Given the description of an element on the screen output the (x, y) to click on. 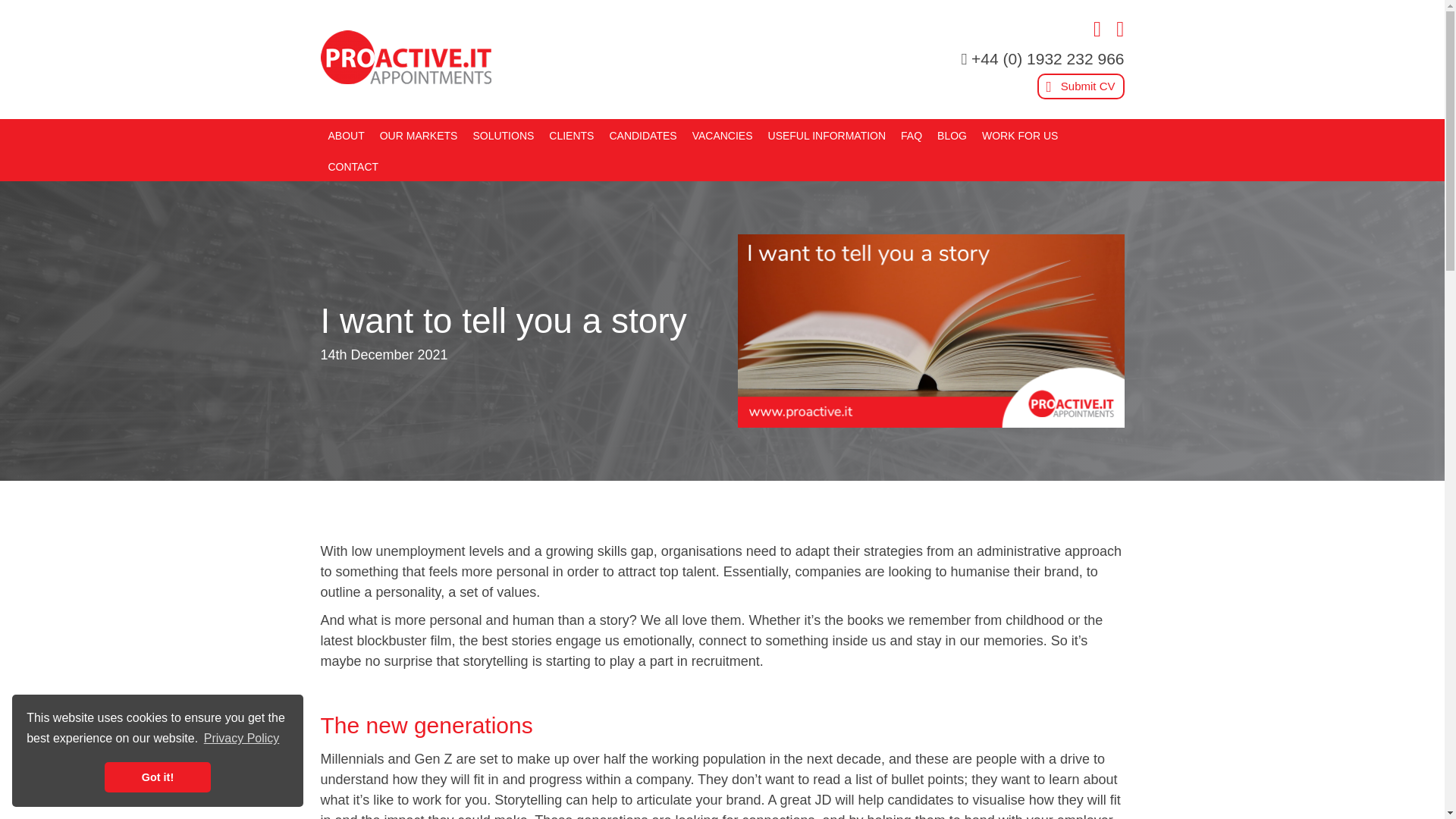
SOLUTIONS (502, 133)
Got it! (157, 777)
FAQ (911, 133)
OUR MARKETS (418, 133)
USEFUL INFORMATION (826, 133)
WORK FOR US (1019, 133)
ABOUT (346, 133)
BLOG (952, 133)
VACANCIES (722, 133)
Submit CV (1080, 86)
CLIENTS (570, 133)
Privacy Policy (242, 738)
CANDIDATES (642, 133)
CONTACT (353, 164)
